Given the description of an element on the screen output the (x, y) to click on. 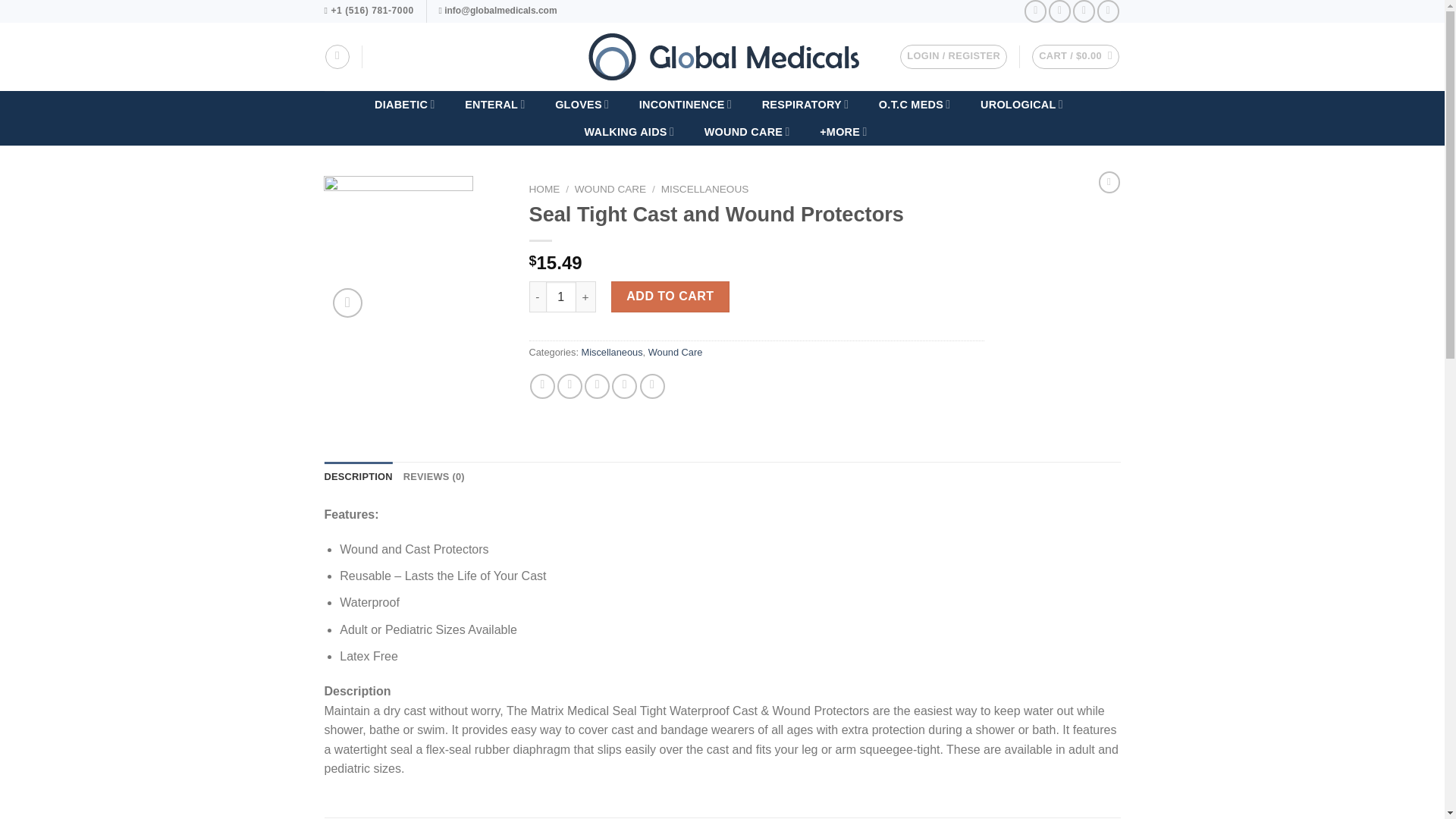
Global Medicals - Medical Supplies (722, 56)
1 (561, 296)
ENTERAL (494, 103)
Send us an email (1108, 11)
Seal Tight Cast and Wound Protectors (398, 250)
Follow on Facebook (1035, 11)
Follow on Instagram (1059, 11)
INCONTINENCE (684, 103)
Cart (1075, 56)
Share on Twitter (569, 385)
